Given the description of an element on the screen output the (x, y) to click on. 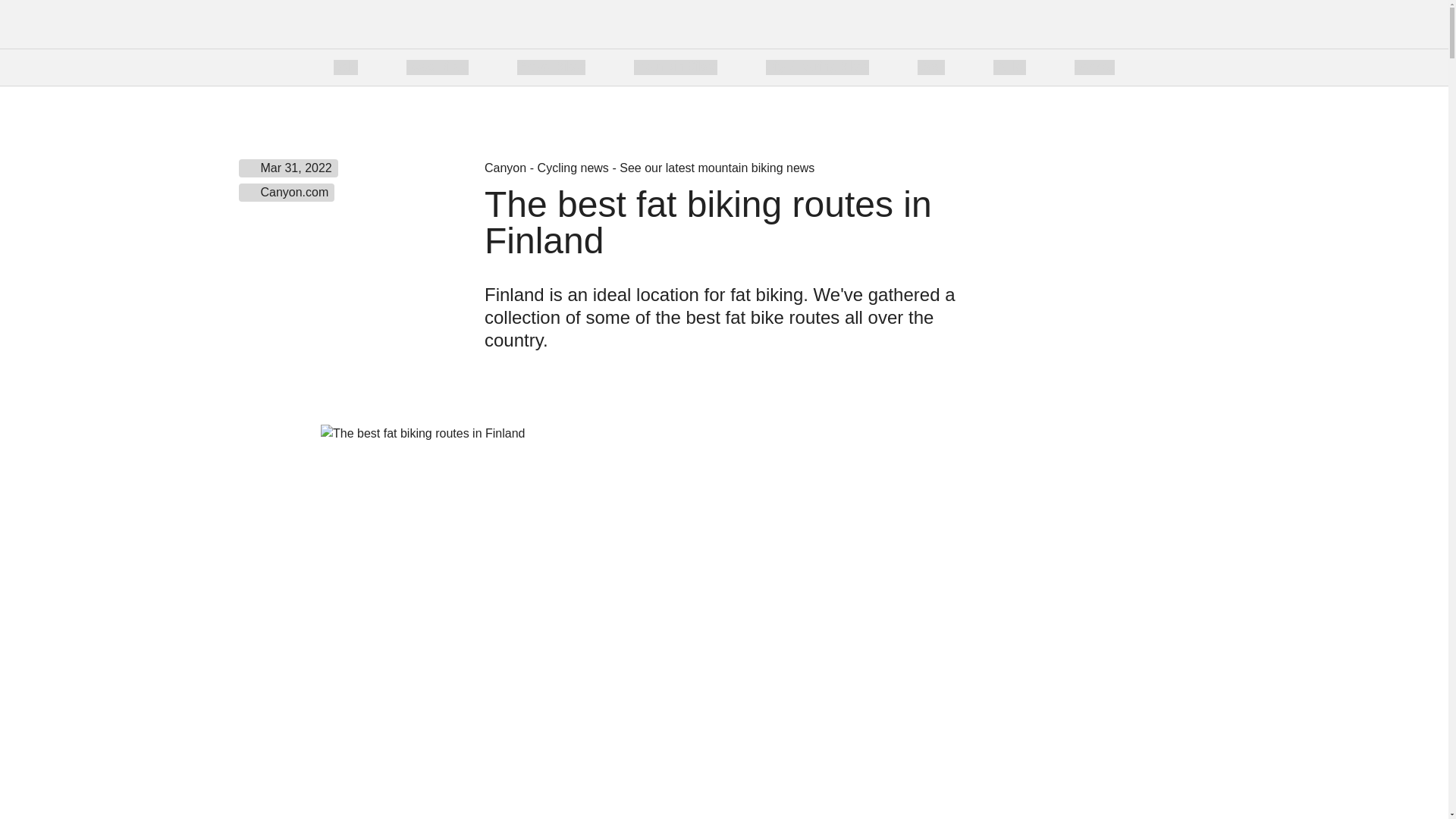
Gravel Bikes (551, 67)
Canyon (292, 23)
Reasons to Choose Canyon (710, 67)
Road Bikes (437, 67)
Sale (345, 67)
